Given the description of an element on the screen output the (x, y) to click on. 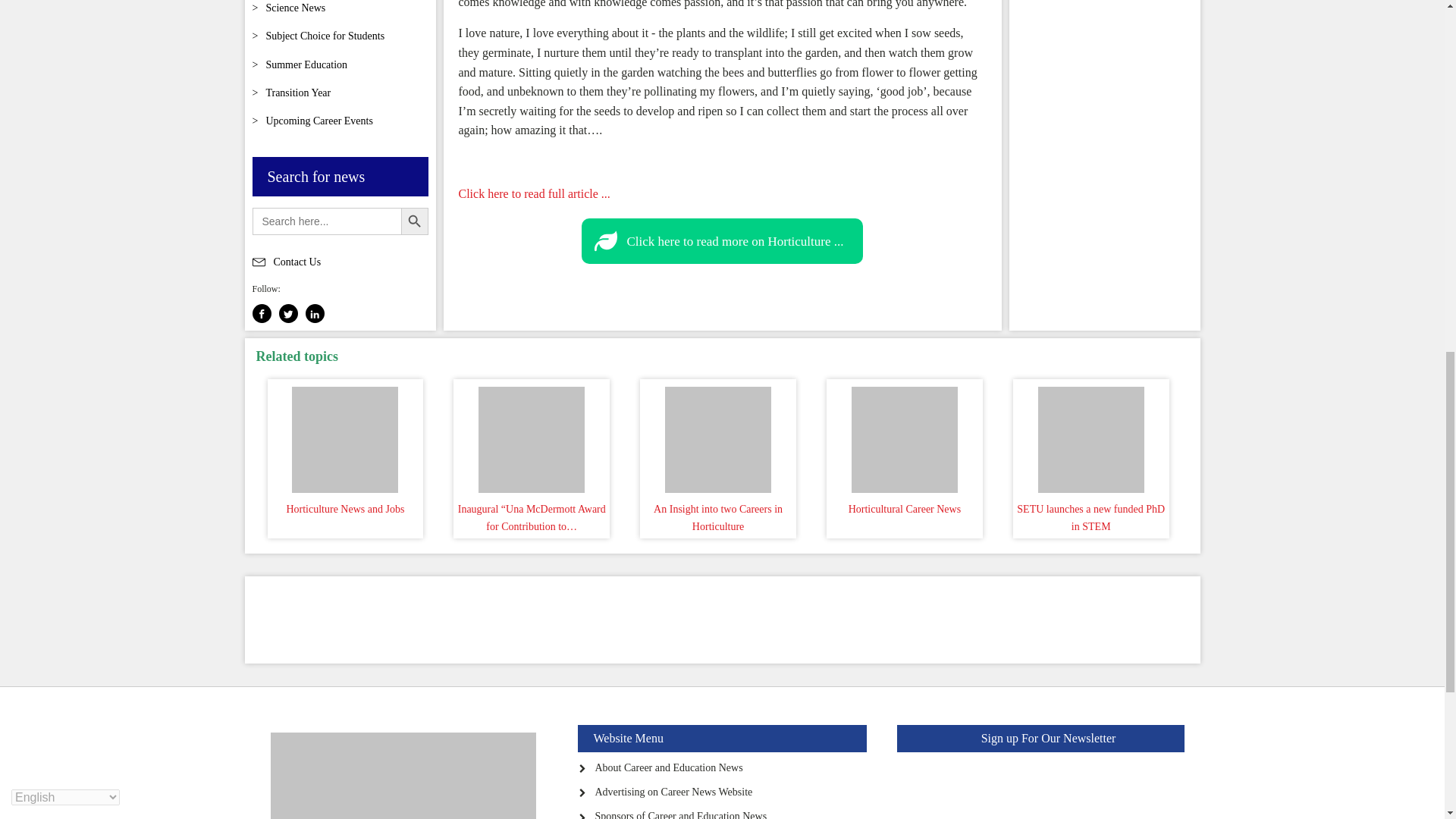
SETU launches a new funded PhD in STEM (1091, 436)
An Insight into two Careers in Horticulture (717, 436)
Horticultural Career News (903, 436)
Horticulture News and Jobs (345, 436)
